Given the description of an element on the screen output the (x, y) to click on. 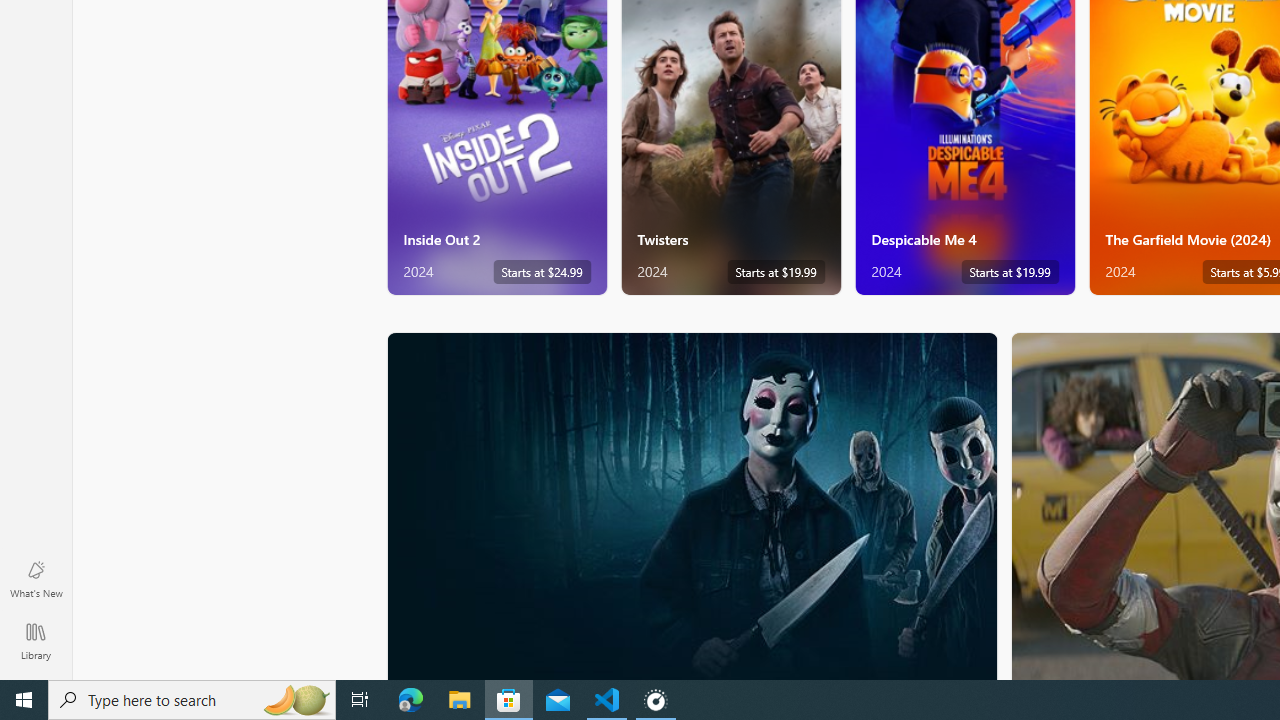
AutomationID: PosterImage (690, 505)
Horror (692, 505)
What's New (35, 578)
Library (35, 640)
